Given the description of an element on the screen output the (x, y) to click on. 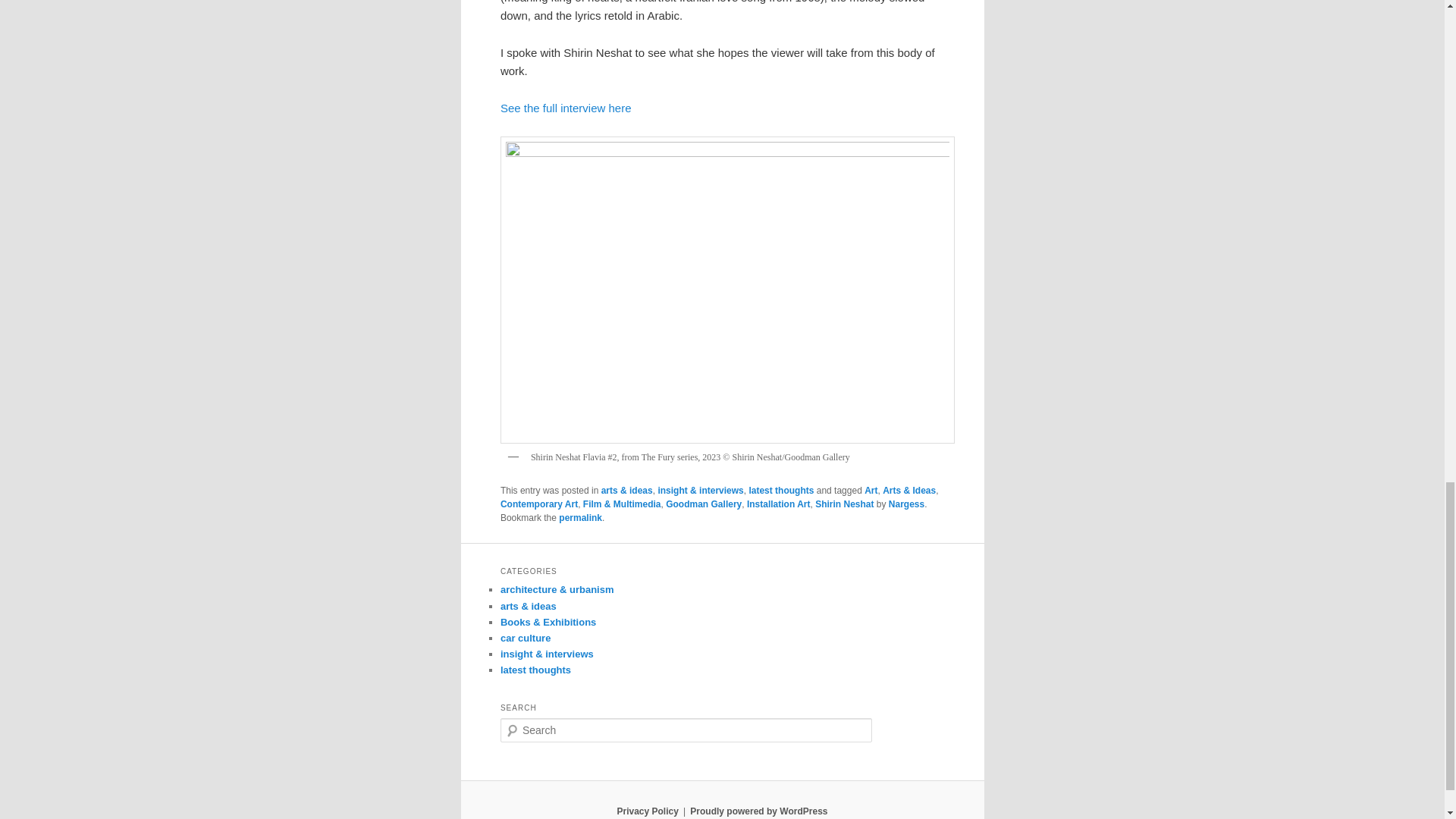
Semantic Personal Publishing Platform (758, 810)
car culture (525, 637)
Nargess (906, 503)
latest thoughts (535, 669)
See the full interview here (565, 107)
art, visual culture, creative reviews (528, 605)
Art (870, 490)
permalink (580, 517)
Privacy Policy (646, 810)
Shirin Neshat (844, 503)
Installation Art (778, 503)
latest thoughts (780, 490)
Goodman Gallery (703, 503)
